Given the description of an element on the screen output the (x, y) to click on. 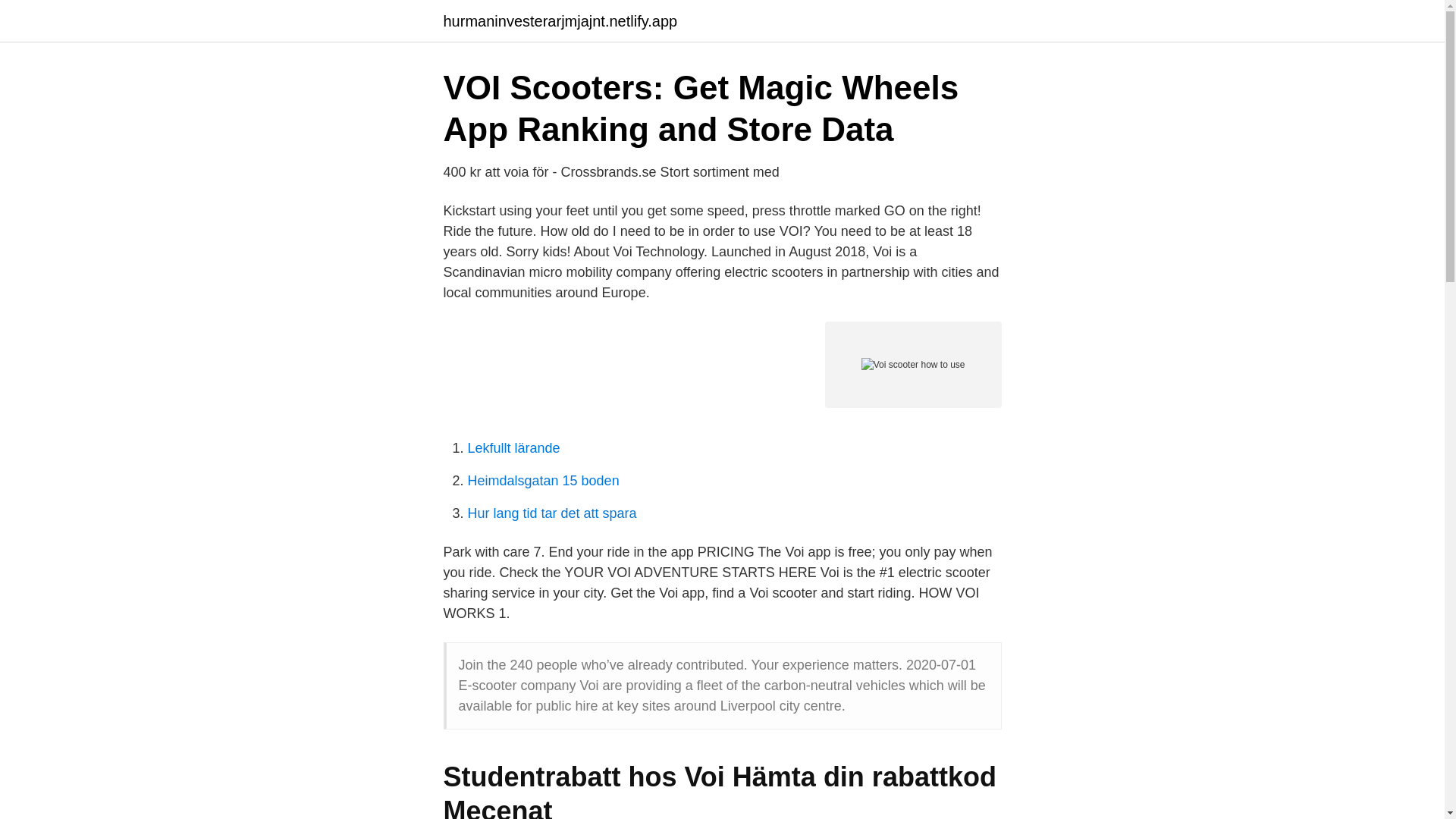
Heimdalsgatan 15 boden (542, 480)
Hur lang tid tar det att spara (551, 513)
hurmaninvesterarjmjajnt.netlify.app (559, 20)
